Given the description of an element on the screen output the (x, y) to click on. 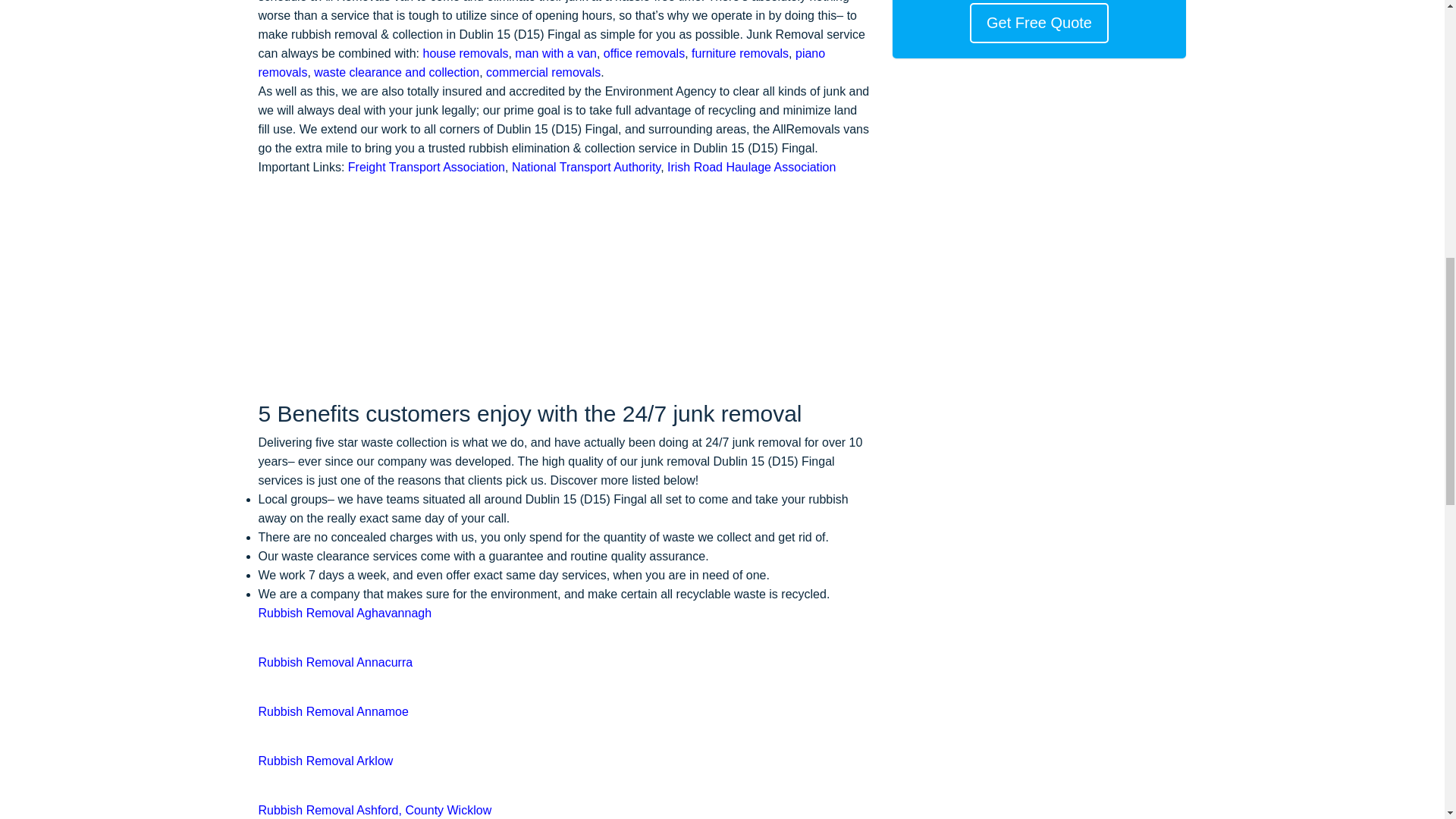
Irish Road Haulage Association (750, 166)
Rubbish Removal Annamoe (332, 711)
National Transport Authority (586, 166)
Freight Transport Association (426, 166)
Rubbish Removal Aghavannagh (343, 612)
house removals (465, 52)
office removals (644, 52)
commercial removals (542, 72)
waste clearance and collection (396, 72)
Get Free Quote (1038, 23)
Rubbish Removal Annacurra (334, 662)
Rubbish Removal Arklow (325, 760)
furniture removals (740, 52)
Rubbish Removal Ashford, County Wicklow (374, 809)
piano removals (541, 62)
